Given the description of an element on the screen output the (x, y) to click on. 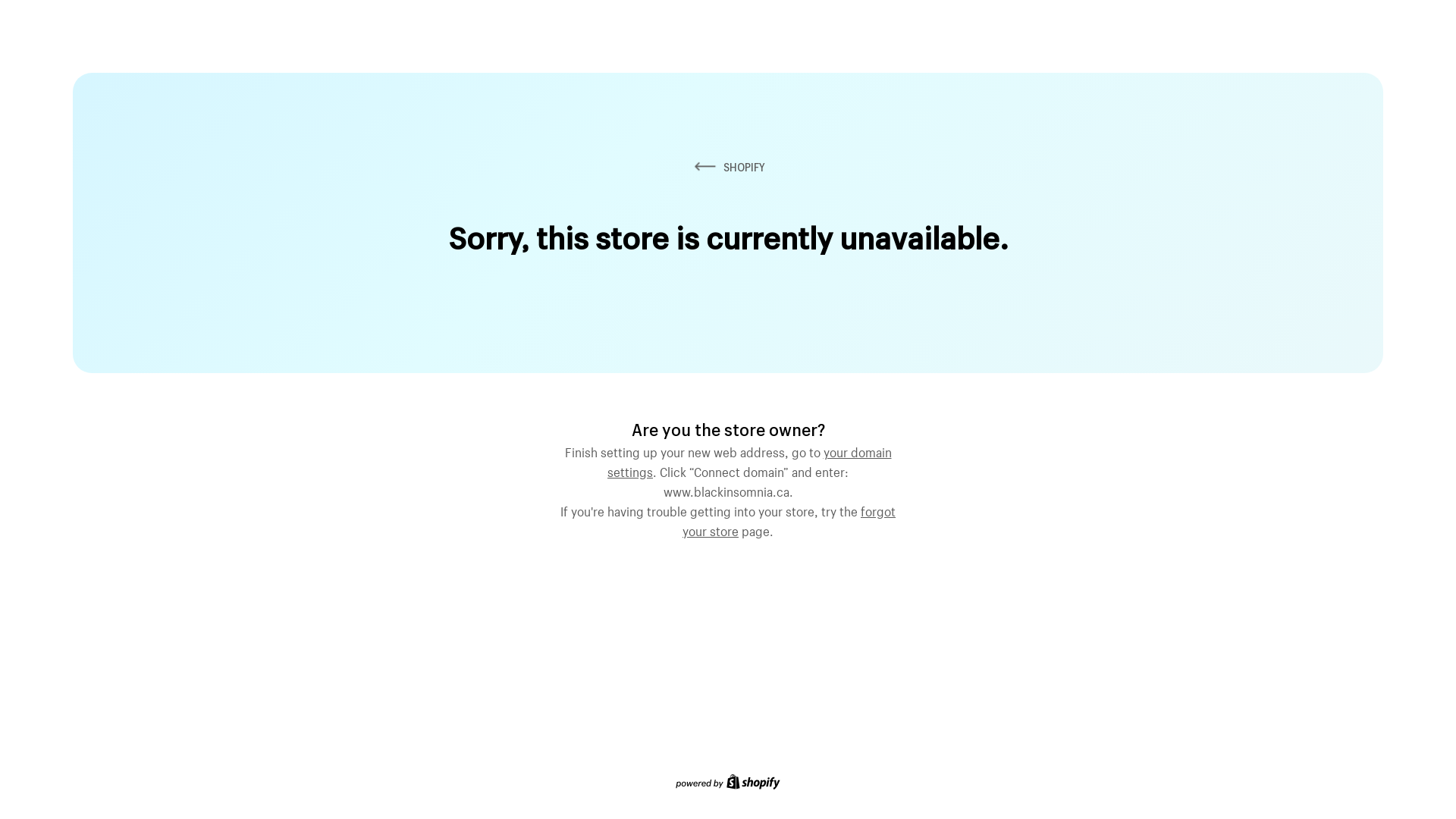
forgot your store Element type: text (788, 519)
SHOPIFY Element type: text (727, 167)
your domain settings Element type: text (749, 460)
